Given the description of an element on the screen output the (x, y) to click on. 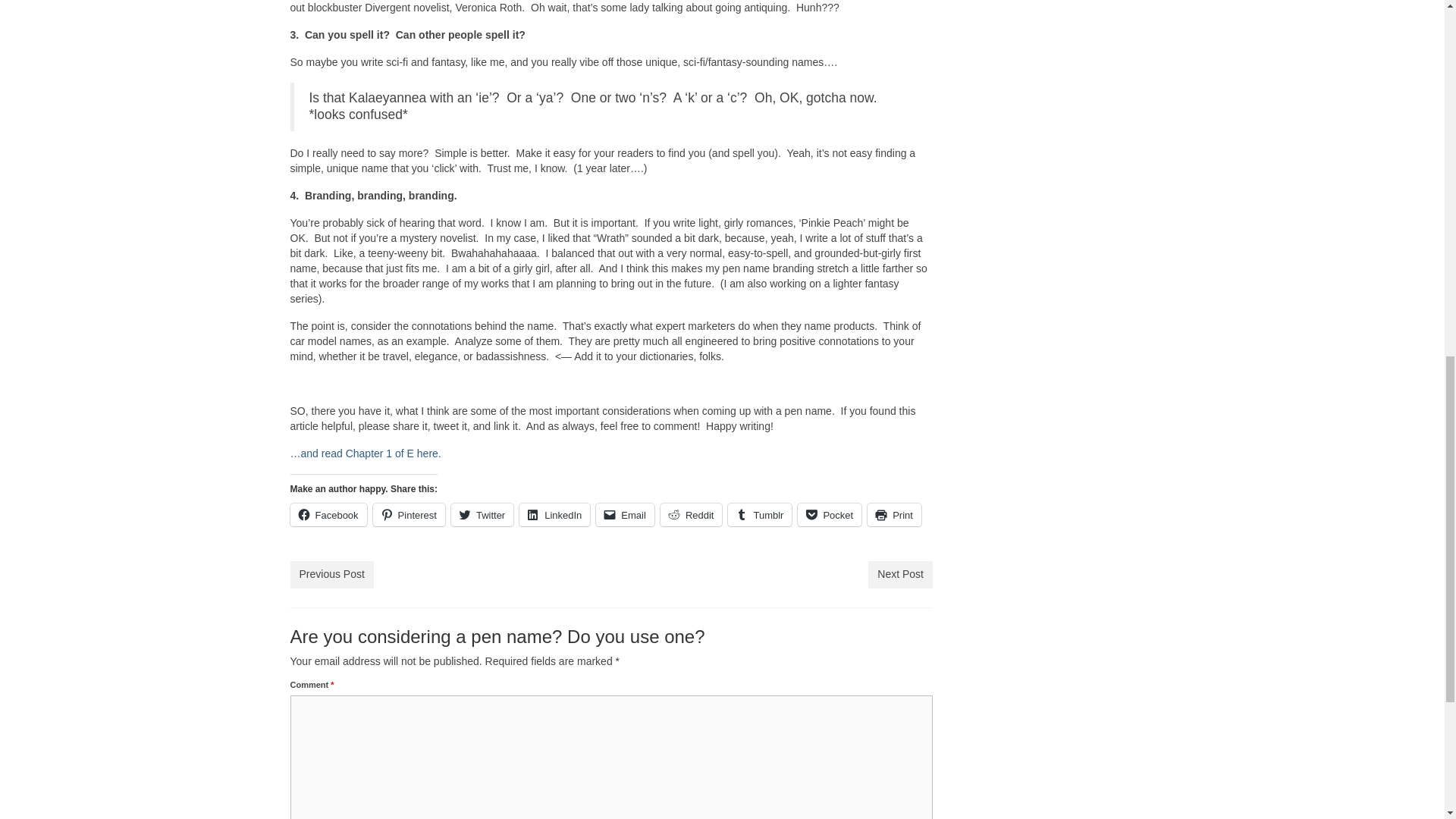
Reddit (691, 514)
Previous Post (330, 574)
Pocket (829, 514)
Click to share on Pinterest (408, 514)
Click to share on Twitter (482, 514)
Email (624, 514)
Click to share on LinkedIn (554, 514)
Click to share on Pocket (829, 514)
Click to print (894, 514)
Click to share on Tumblr (760, 514)
Pinterest (408, 514)
LinkedIn (554, 514)
Print (894, 514)
Click to email a link to a friend (624, 514)
Click to share on Facebook (327, 514)
